Given the description of an element on the screen output the (x, y) to click on. 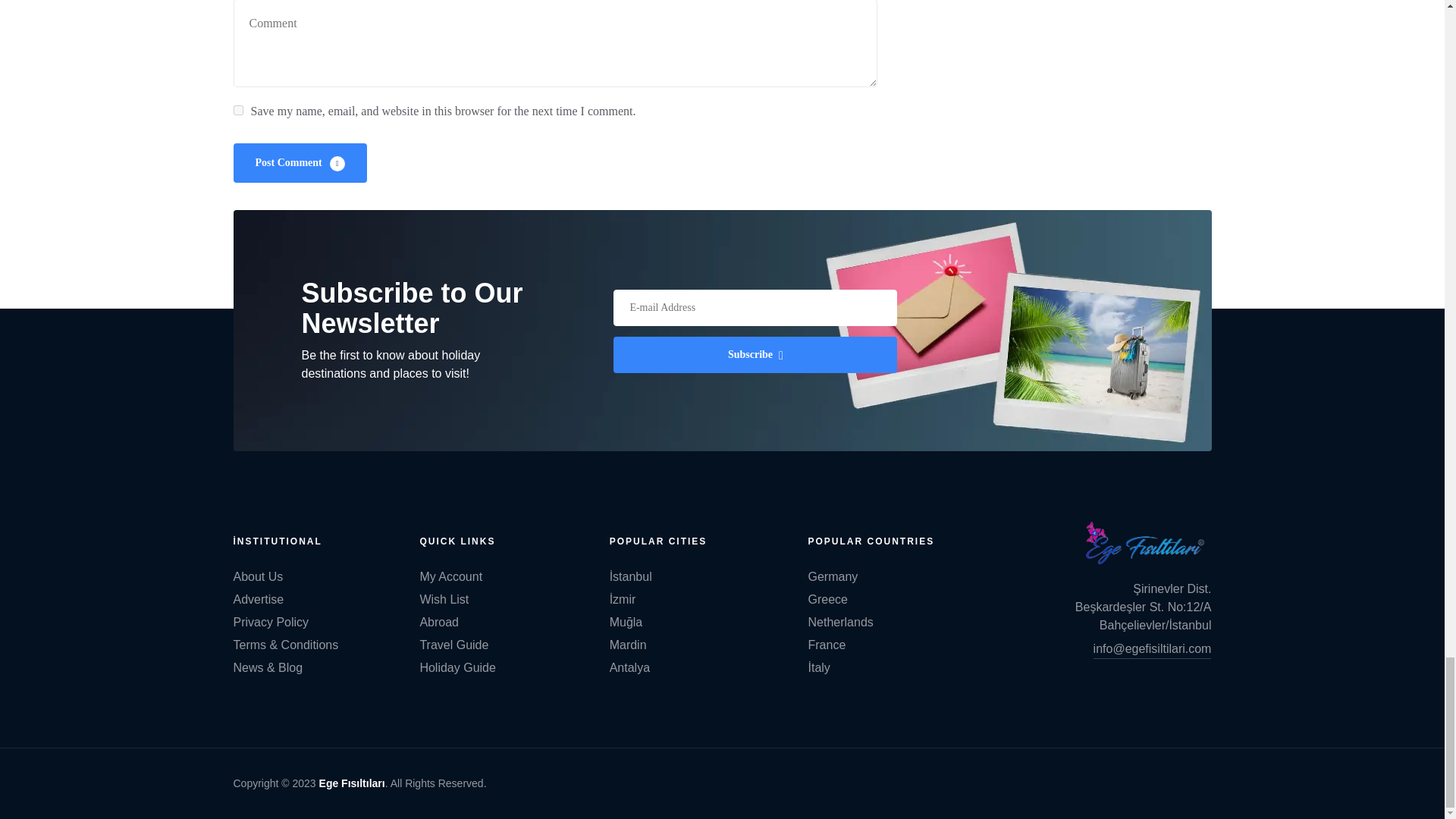
yes (237, 110)
